Given the description of an element on the screen output the (x, y) to click on. 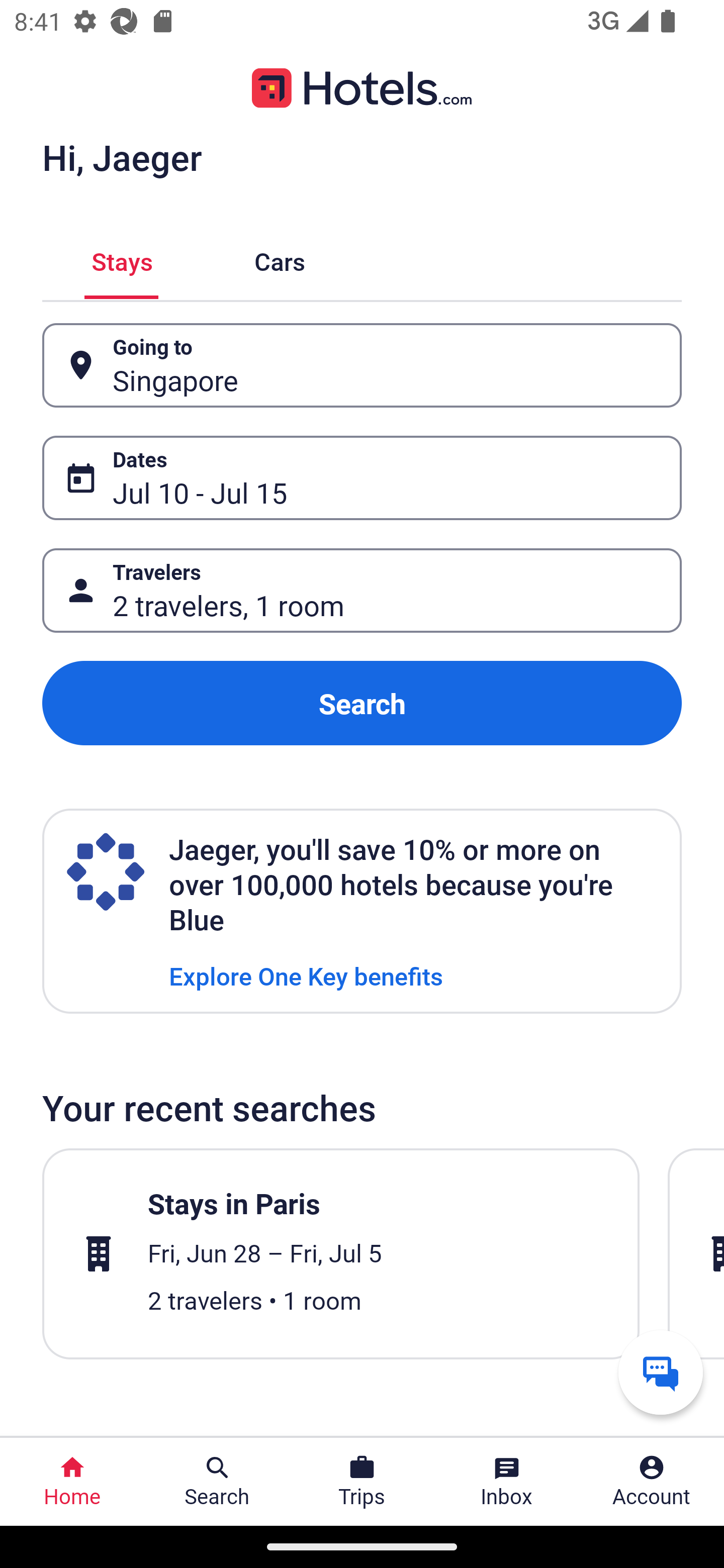
Hi, Jaeger (121, 156)
Cars (279, 259)
Going to Button Singapore (361, 365)
Dates Button Jul 10 - Jul 15 (361, 477)
Travelers Button 2 travelers, 1 room (361, 590)
Search (361, 702)
Get help from a virtual agent (660, 1371)
Search Search Button (216, 1481)
Trips Trips Button (361, 1481)
Inbox Inbox Button (506, 1481)
Account Profile. Button (651, 1481)
